Given the description of an element on the screen output the (x, y) to click on. 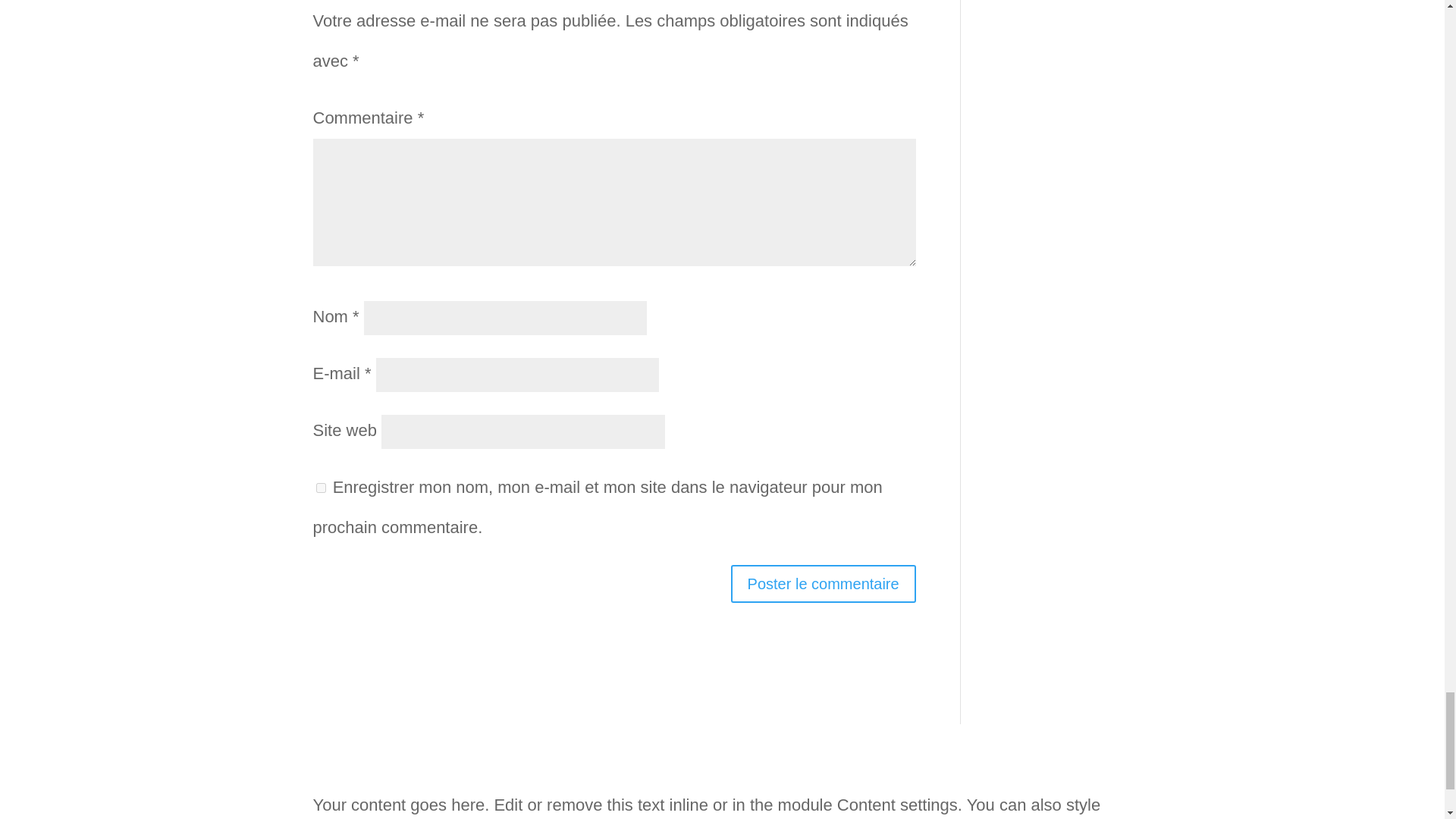
Poster le commentaire (822, 583)
Poster le commentaire (822, 583)
yes (319, 488)
